Given the description of an element on the screen output the (x, y) to click on. 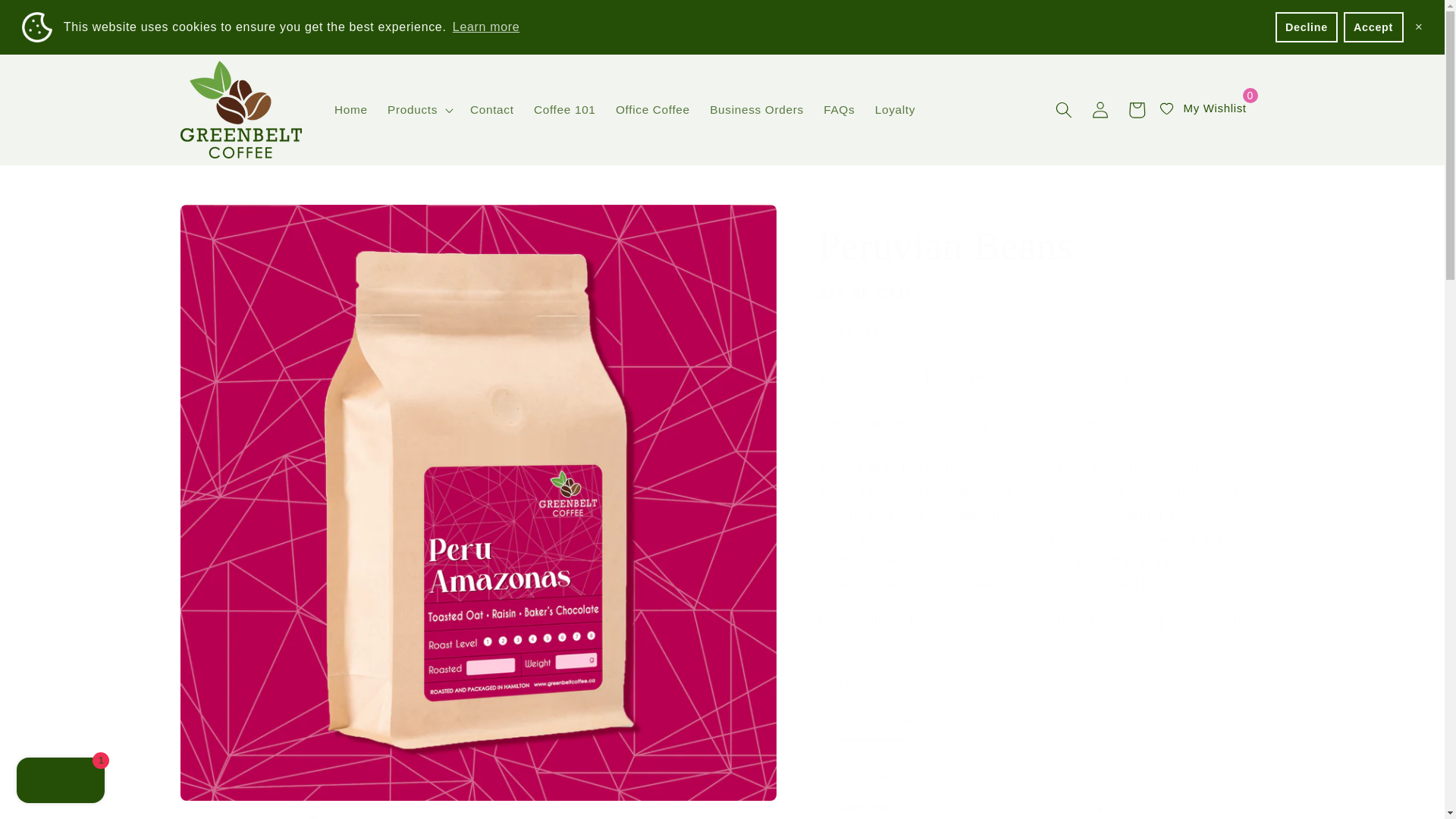
Decline (1306, 27)
Shopify online store chat (60, 781)
Learn more (485, 26)
Skip to content (50, 19)
Accept (1373, 27)
1 (872, 721)
Open media 2 in modal (328, 812)
Home (350, 109)
